Given the description of an element on the screen output the (x, y) to click on. 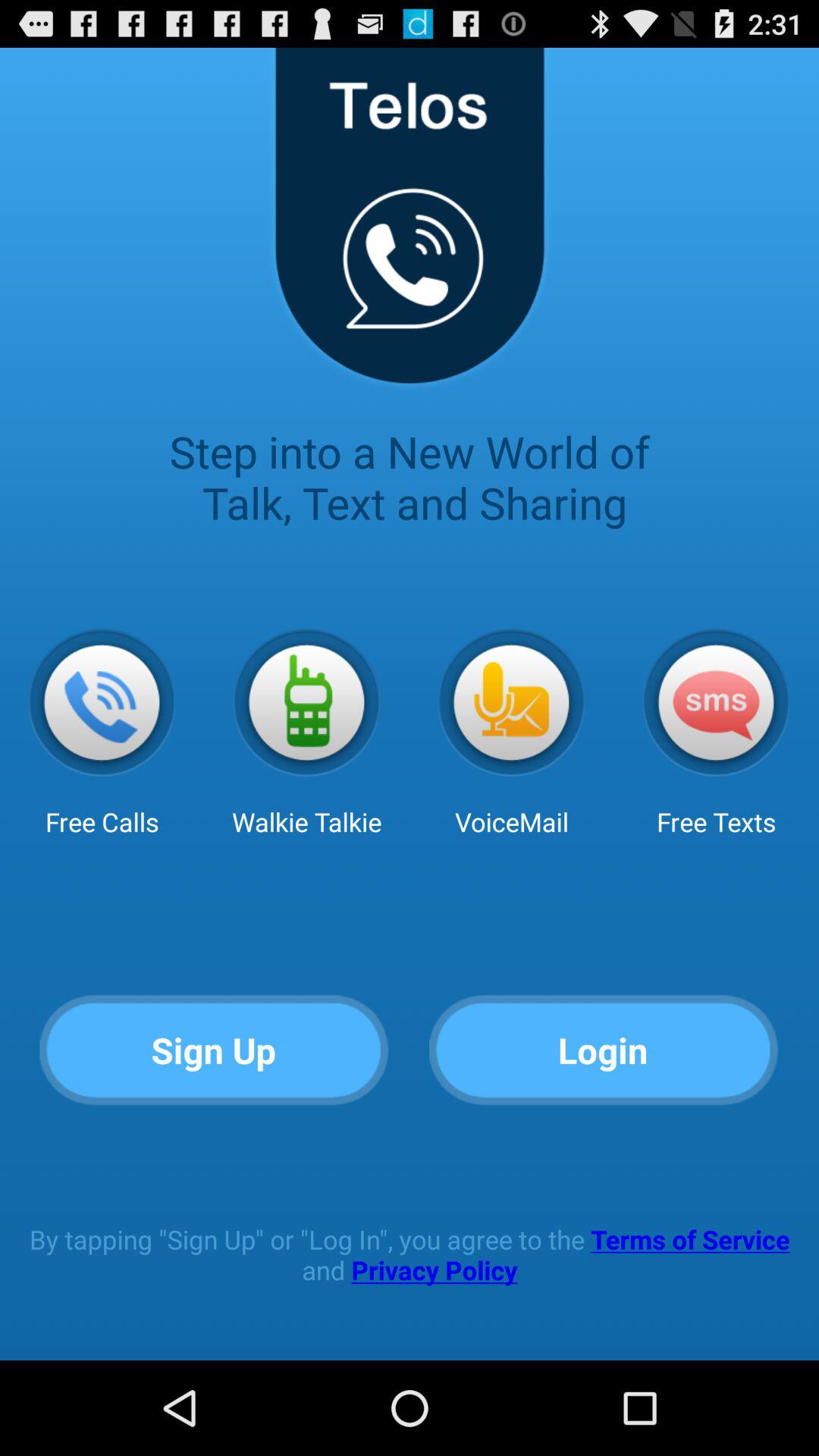
select item next to sign up item (604, 1050)
